Given the description of an element on the screen output the (x, y) to click on. 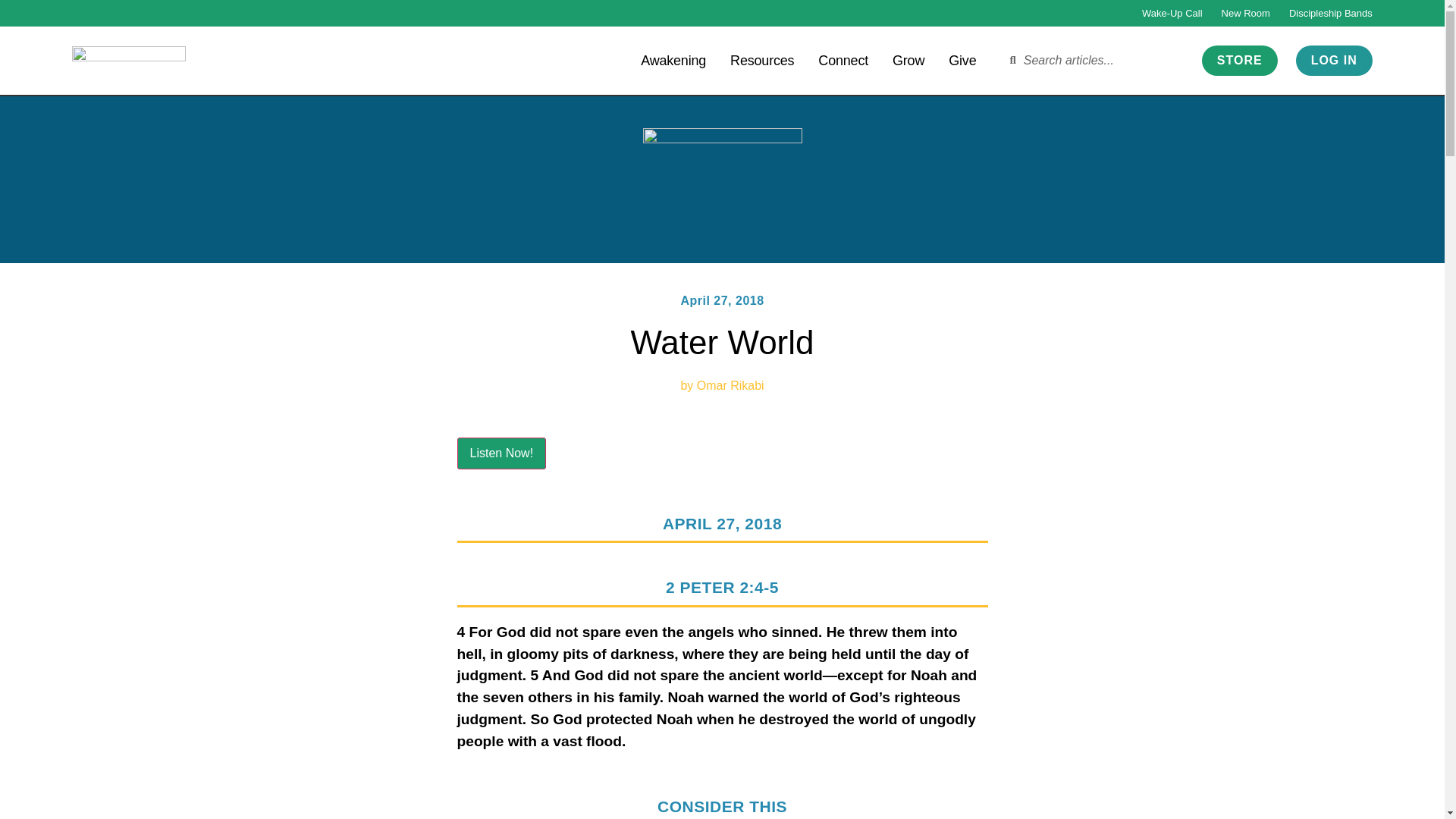
Grow (908, 59)
New Room (1245, 13)
Wake-Up Call (1171, 13)
Discipleship Bands (1330, 13)
Connect (842, 59)
Resources (761, 59)
Awakening (673, 59)
